Given the description of an element on the screen output the (x, y) to click on. 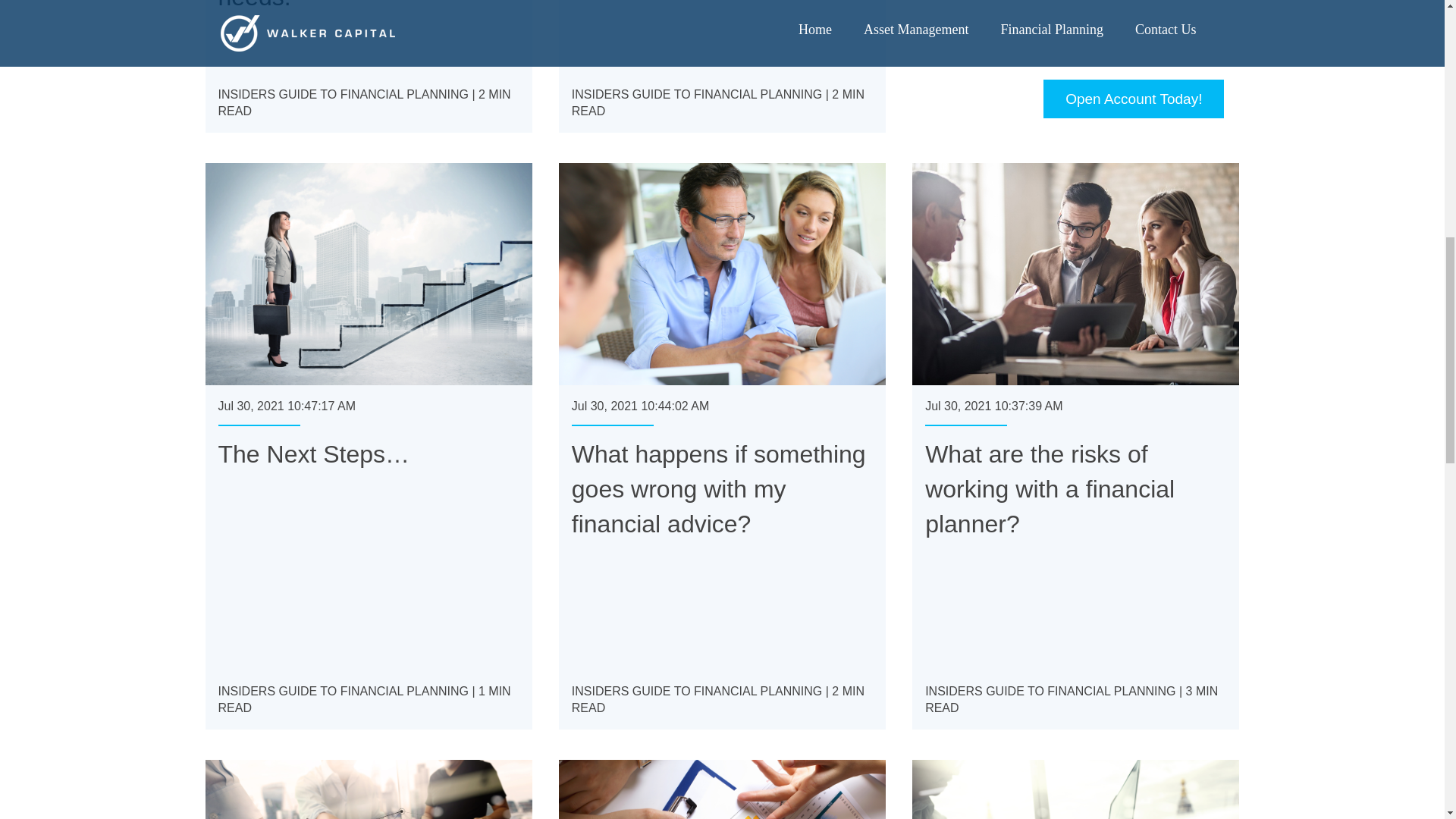
Open Account Today! (1133, 98)
Open Account Today! (1133, 98)
INSIDERS GUIDE TO FINANCIAL PLANNING (343, 93)
INSIDERS GUIDE TO FINANCIAL PLANNING (343, 690)
INSIDERS GUIDE TO FINANCIAL PLANNING (697, 93)
